Given the description of an element on the screen output the (x, y) to click on. 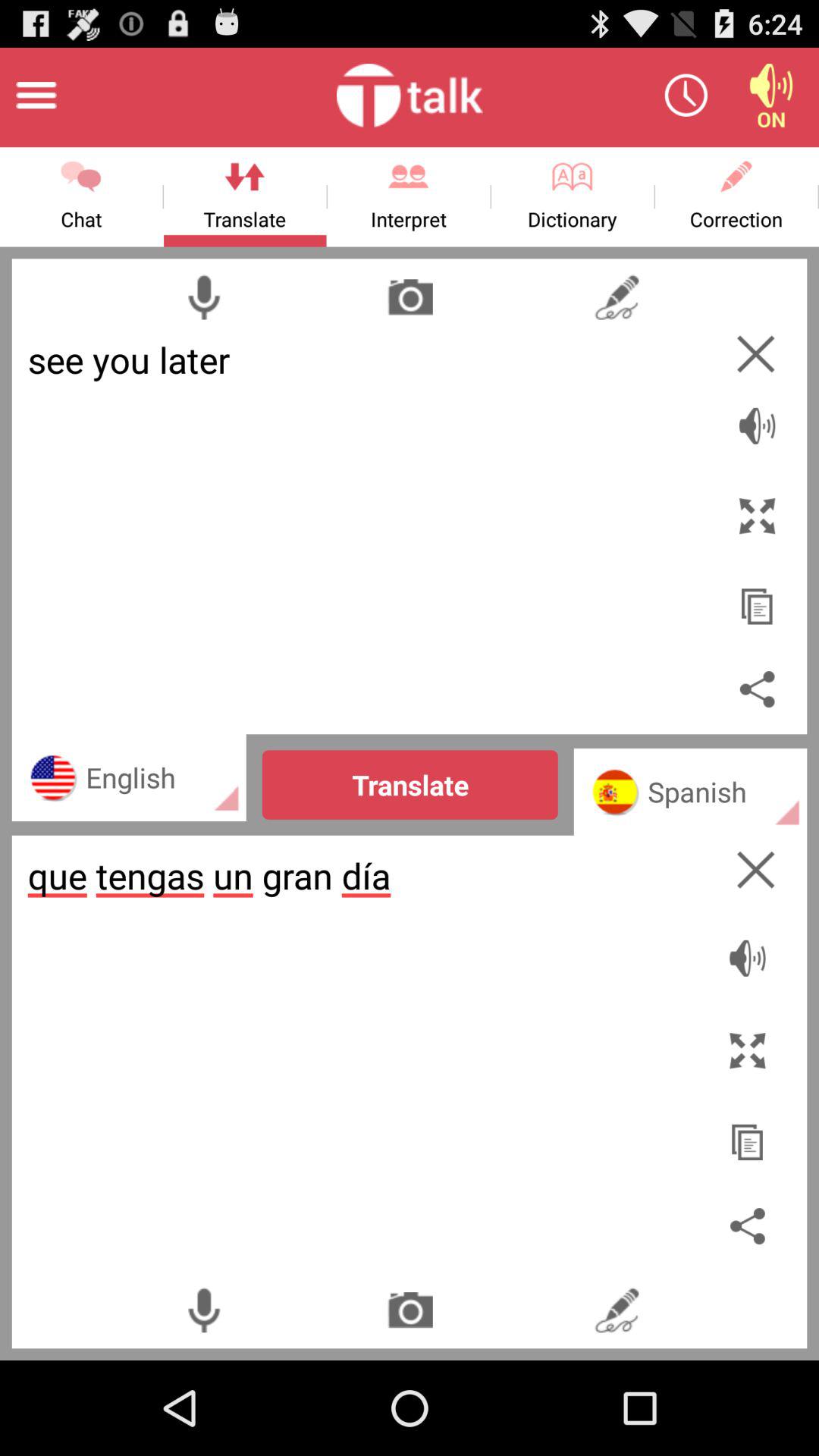
copy the text (749, 1134)
